Given the description of an element on the screen output the (x, y) to click on. 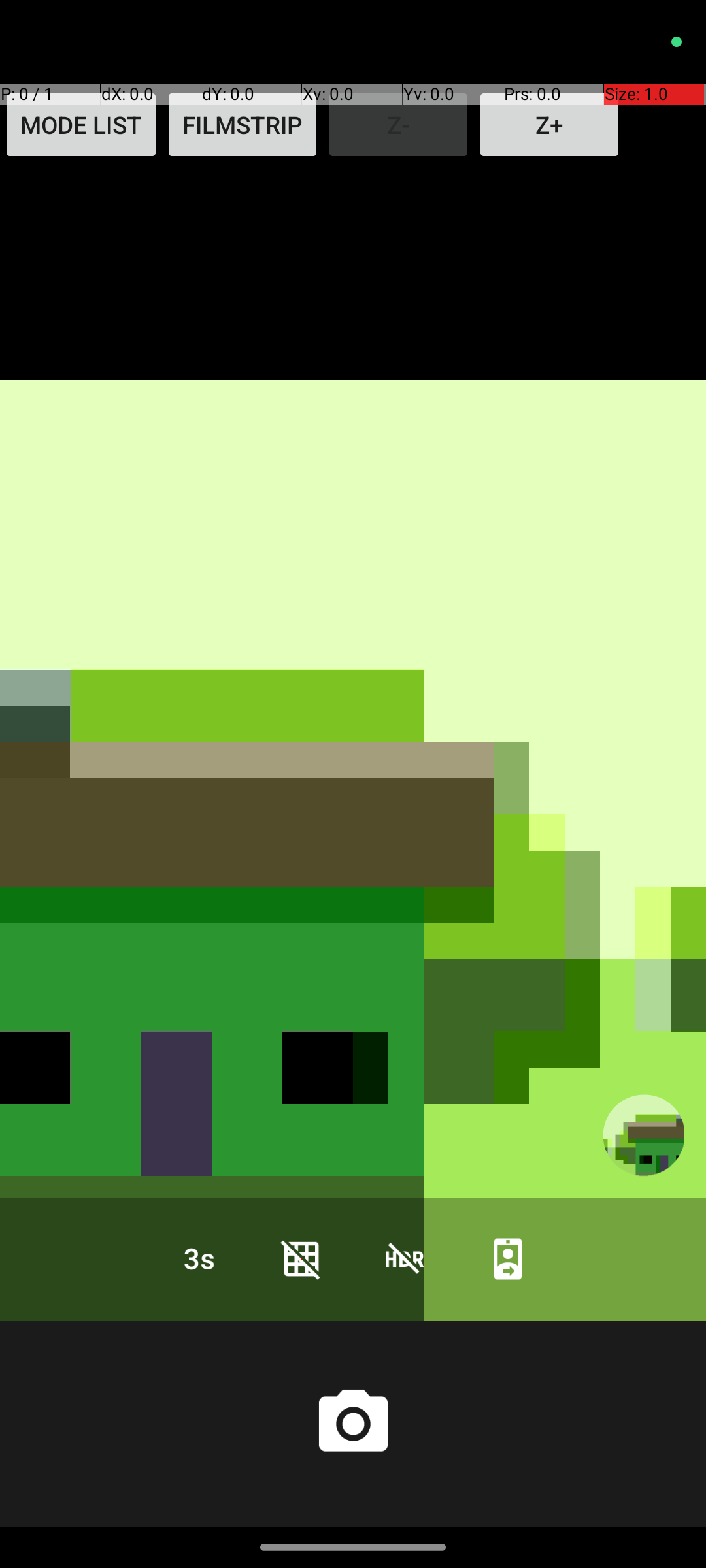
Countdown timer duration is set to 3 seconds Element type: android.widget.ImageButton (197, 1258)
HDR off Element type: android.widget.ImageButton (404, 1258)
Front camera Element type: android.widget.ImageButton (507, 1258)
